Given the description of an element on the screen output the (x, y) to click on. 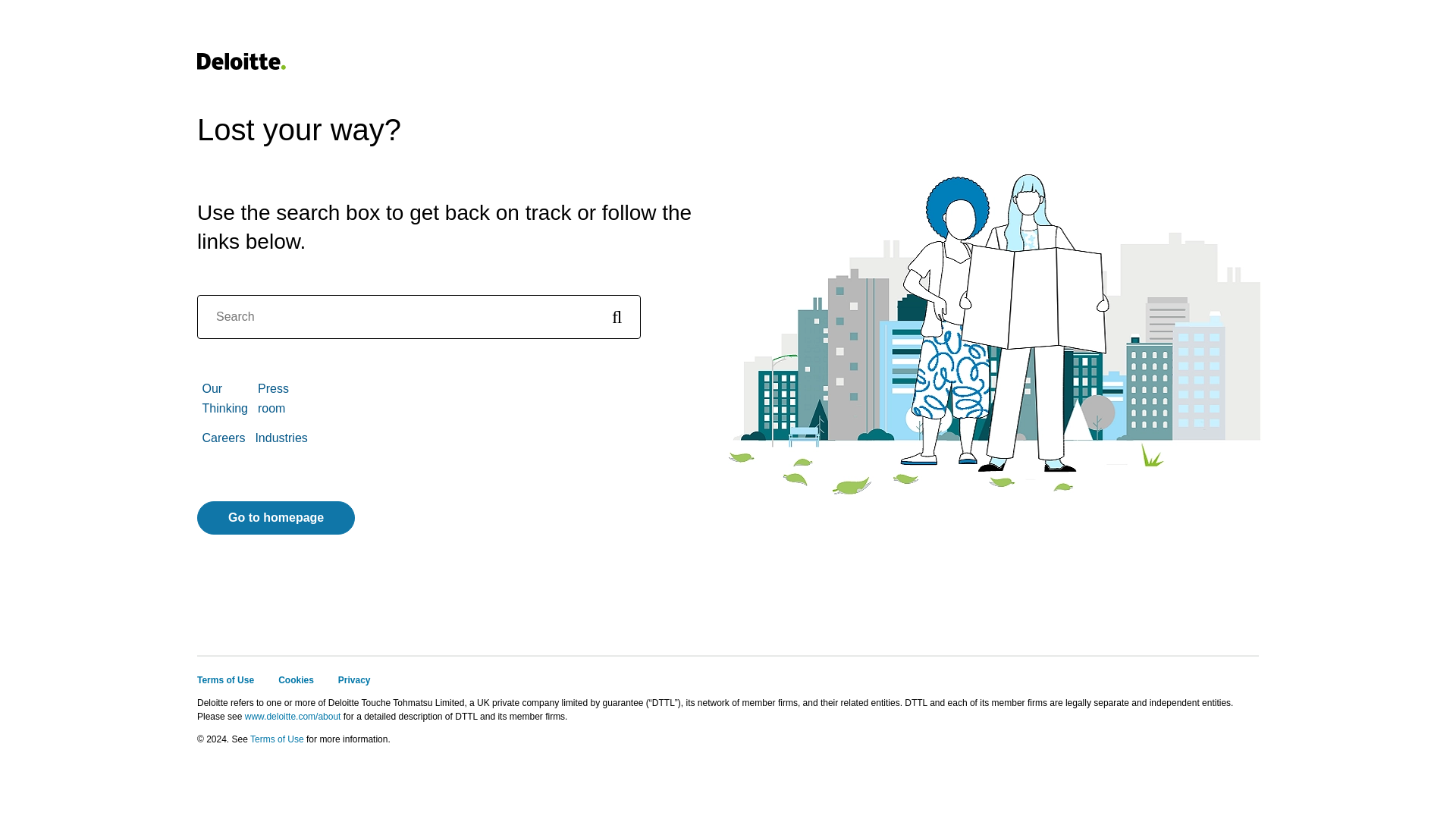
Careers (223, 437)
Terms of Use (224, 679)
Cookies (296, 679)
Privacy (354, 679)
Press room (272, 398)
Go to homepage (275, 517)
Industries (280, 437)
Terms of Use (277, 738)
Terms of Use (277, 738)
Industries (280, 437)
